Given the description of an element on the screen output the (x, y) to click on. 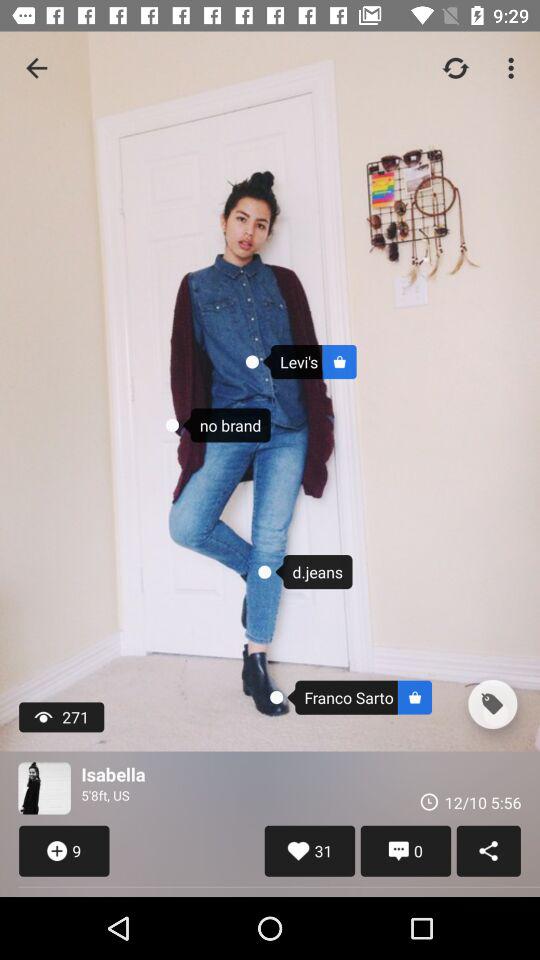
press item above 12 10 5 icon (492, 704)
